Given the description of an element on the screen output the (x, y) to click on. 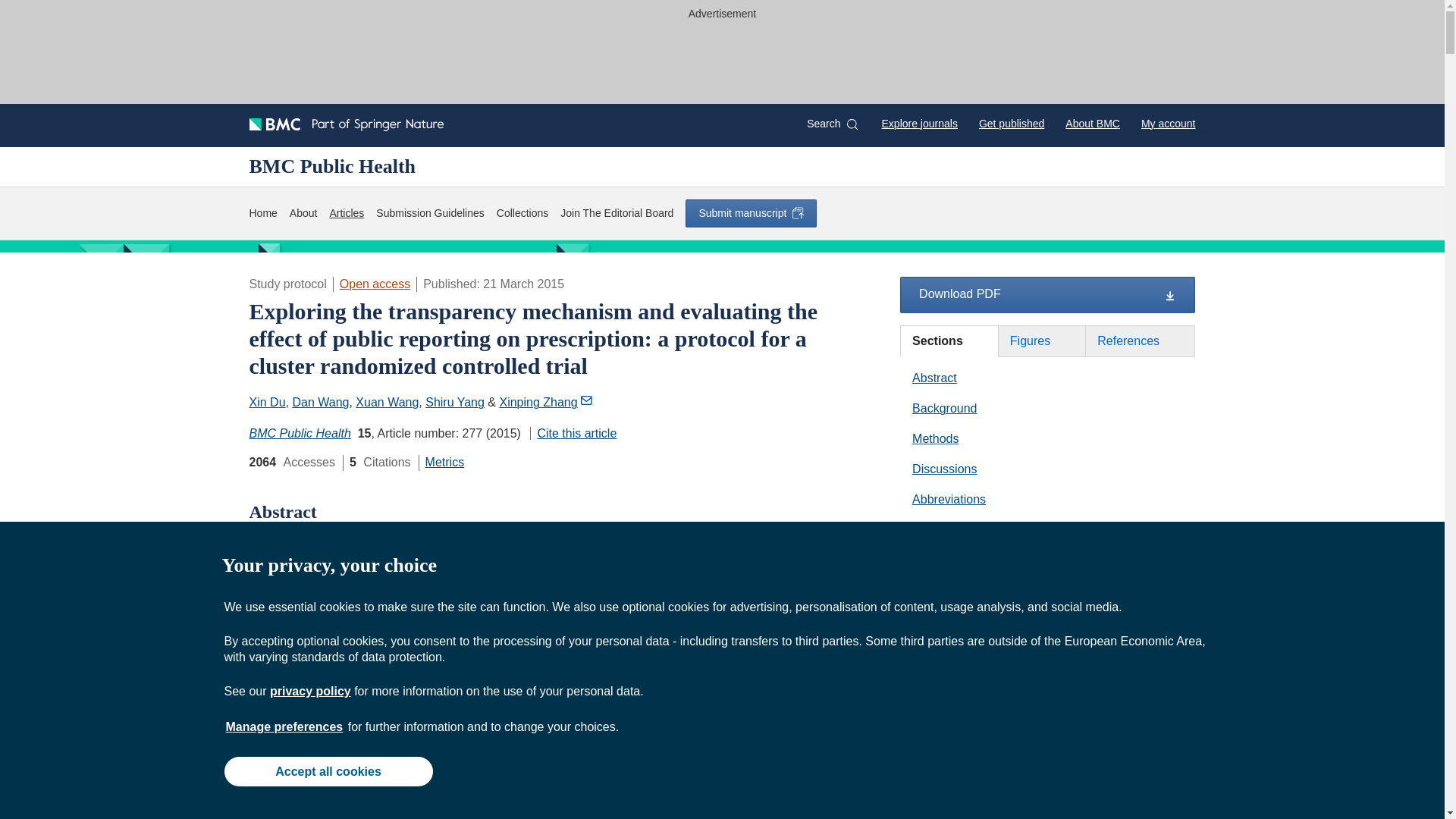
Collections (522, 212)
Search (831, 123)
Dan Wang (320, 401)
BMC Public Health (299, 432)
Articles (346, 212)
Xuan Wang (387, 401)
Join The Editorial Board (616, 212)
About BMC (1092, 123)
Xinping Zhang (545, 401)
Cite this article (572, 432)
Shiru Yang (454, 401)
My account (1168, 123)
Submission Guidelines (429, 212)
Xin Du (266, 401)
Submit manuscript (750, 212)
